Given the description of an element on the screen output the (x, y) to click on. 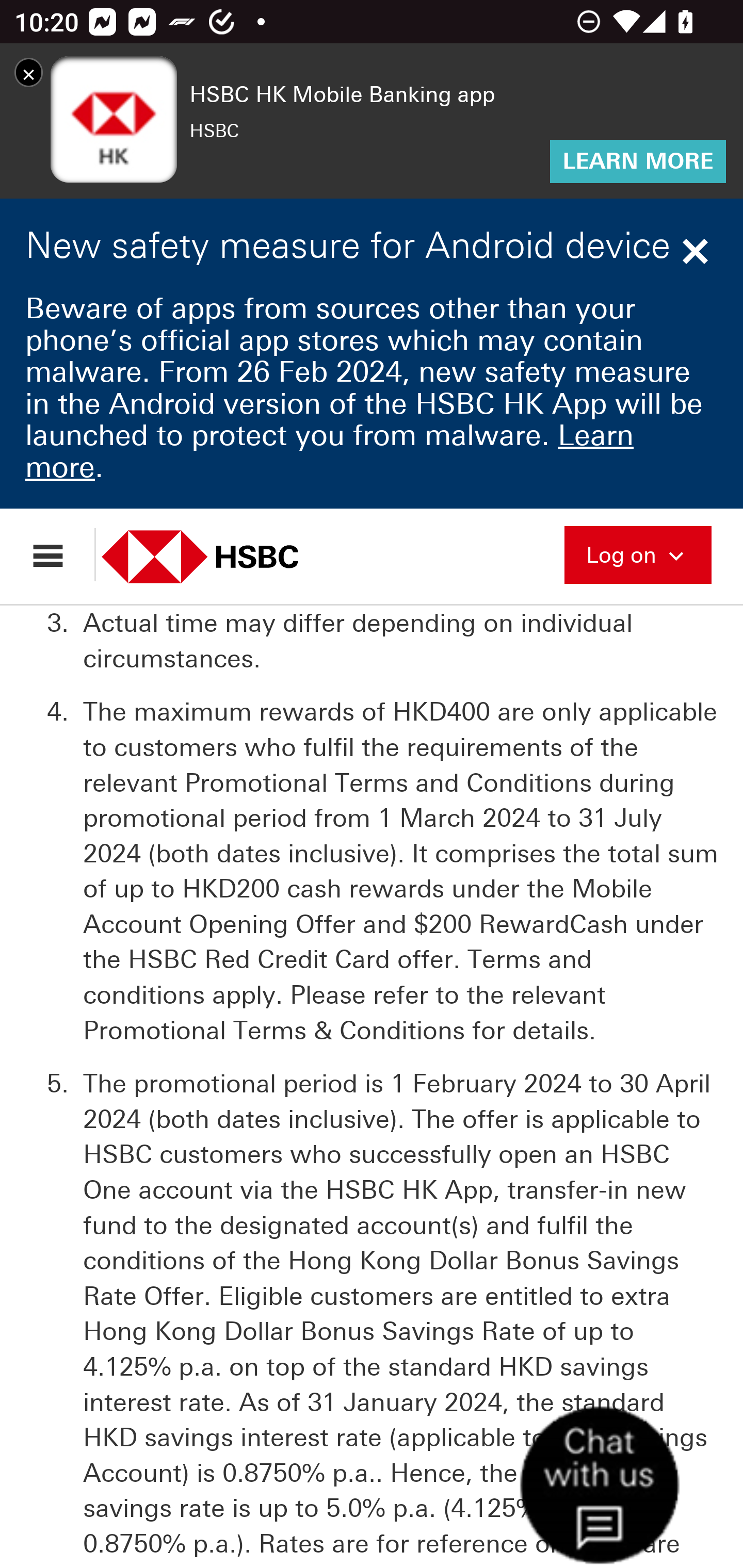
X (28, 74)
LEARN MORE (638, 161)
Close (697, 253)
Learn more (329, 452)
Log on Collapsed (638, 554)
Open menu (57, 555)
HSBC Hong Kong Bank (221, 557)
